Given the description of an element on the screen output the (x, y) to click on. 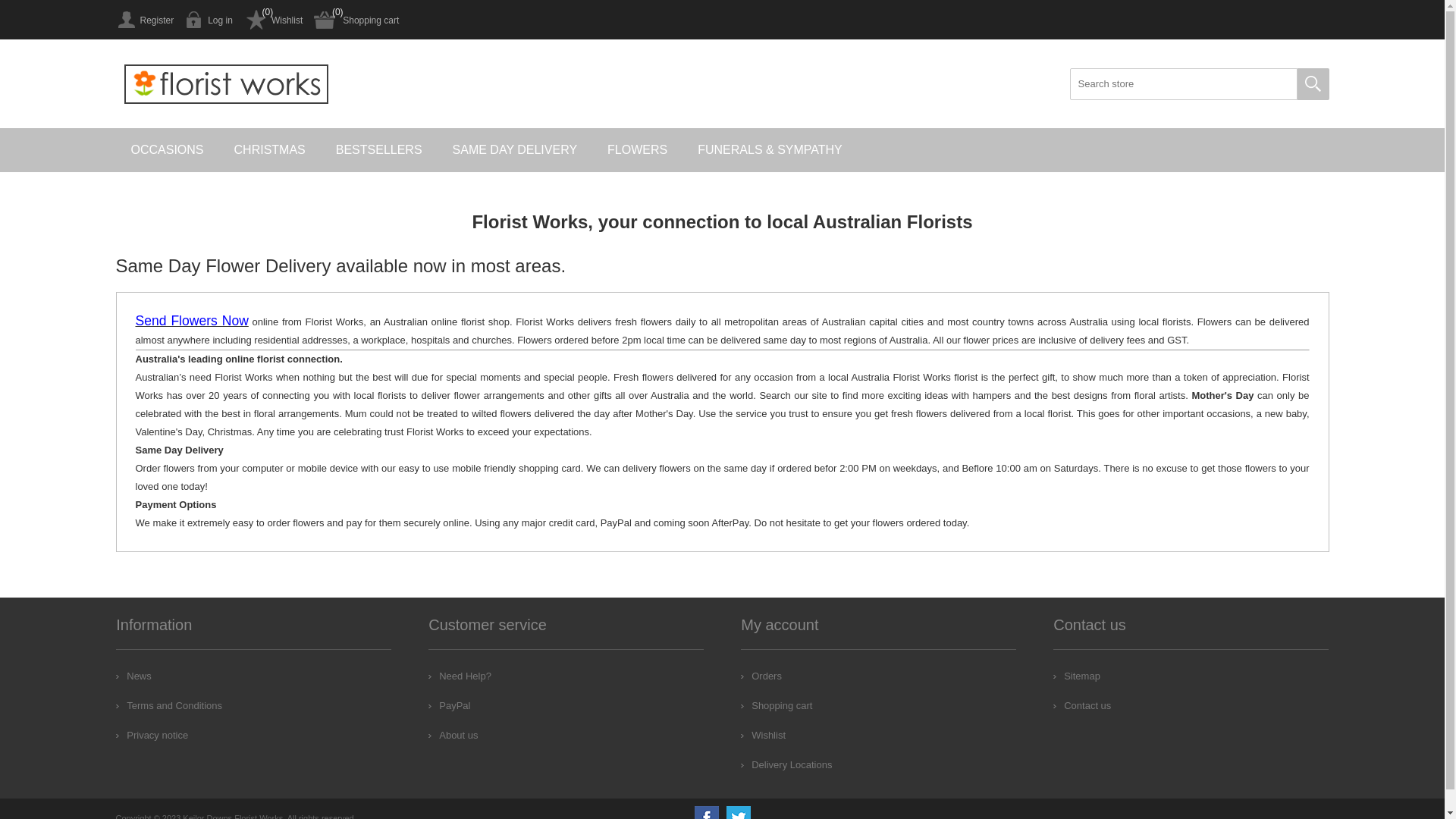
SAME DAY DELIVERY Element type: text (515, 150)
Wishlist Element type: text (762, 734)
CHRISTMAS Element type: text (269, 150)
PayPal Element type: text (449, 705)
Register Element type: text (144, 19)
Delivery Locations Element type: text (785, 764)
Wishlist Element type: text (273, 19)
Send Flowers Now Element type: text (190, 321)
Search Element type: text (1312, 84)
OCCASIONS Element type: text (166, 150)
Shopping cart Element type: text (776, 705)
Terms and Conditions Element type: text (169, 705)
FLOWERS Element type: text (637, 150)
Contact us Element type: text (1081, 705)
News Element type: text (133, 675)
BESTSELLERS Element type: text (378, 150)
Shopping cart Element type: text (355, 19)
Log in Element type: text (208, 19)
Need Help? Element type: text (459, 675)
Sitemap Element type: text (1076, 675)
Orders Element type: text (760, 675)
Privacy notice Element type: text (152, 734)
About us Element type: text (452, 734)
FUNERALS & SYMPATHY Element type: text (769, 150)
